Given the description of an element on the screen output the (x, y) to click on. 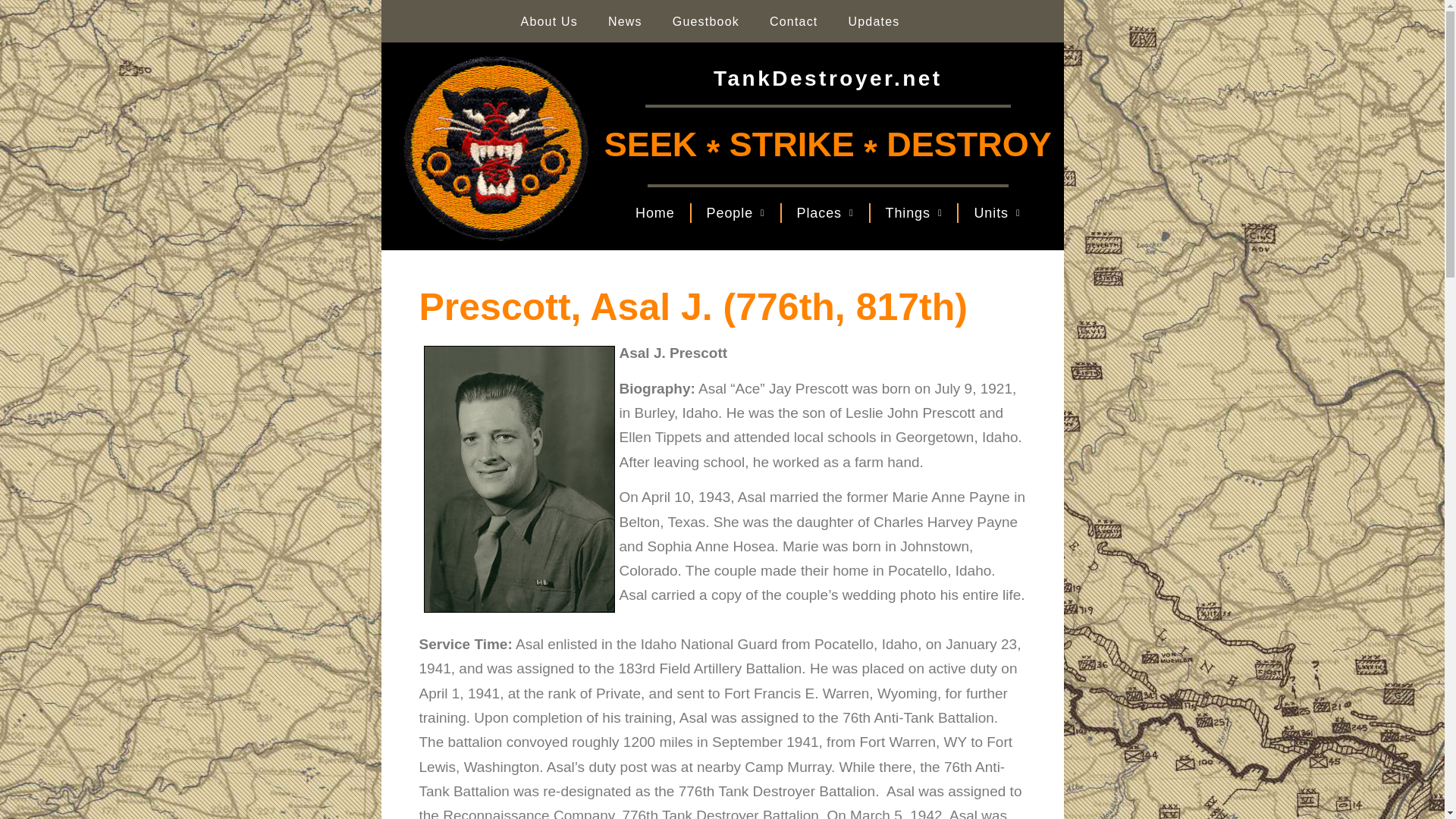
News (625, 21)
Places (825, 213)
People (735, 213)
Contact (793, 21)
Guestbook (706, 21)
Things (914, 213)
About Us (548, 21)
Updates (873, 21)
Home (655, 213)
